Given the description of an element on the screen output the (x, y) to click on. 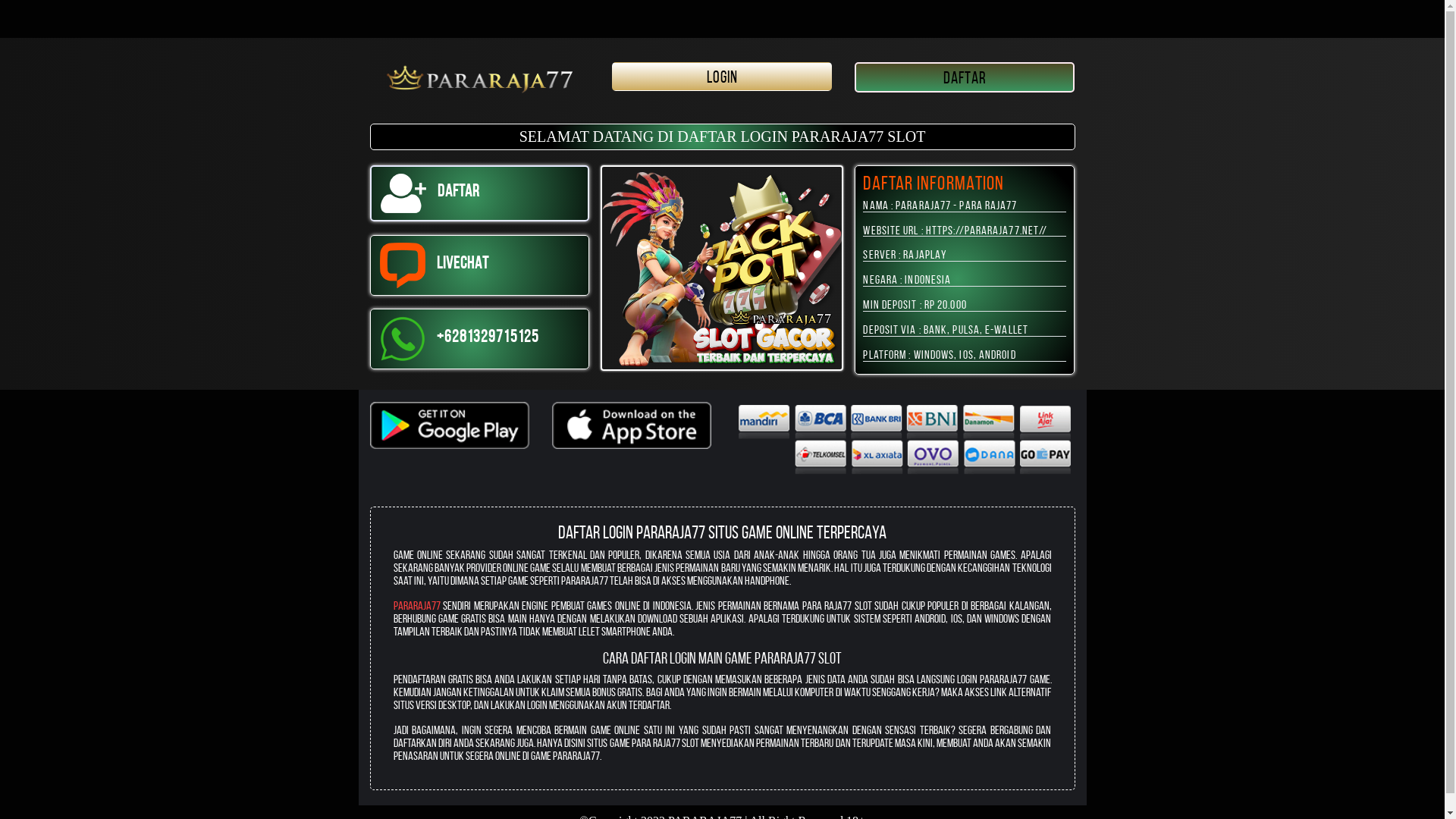
DAFTAR Element type: text (964, 78)
LIVECHAT Element type: text (479, 265)
DAFTAR Element type: text (964, 77)
DAFTAR Element type: text (479, 193)
+6281329715125 Element type: text (479, 338)
LOGIN Element type: text (721, 76)
PARARAJA77 Element type: text (415, 605)
LOGIN Element type: text (721, 78)
